Given the description of an element on the screen output the (x, y) to click on. 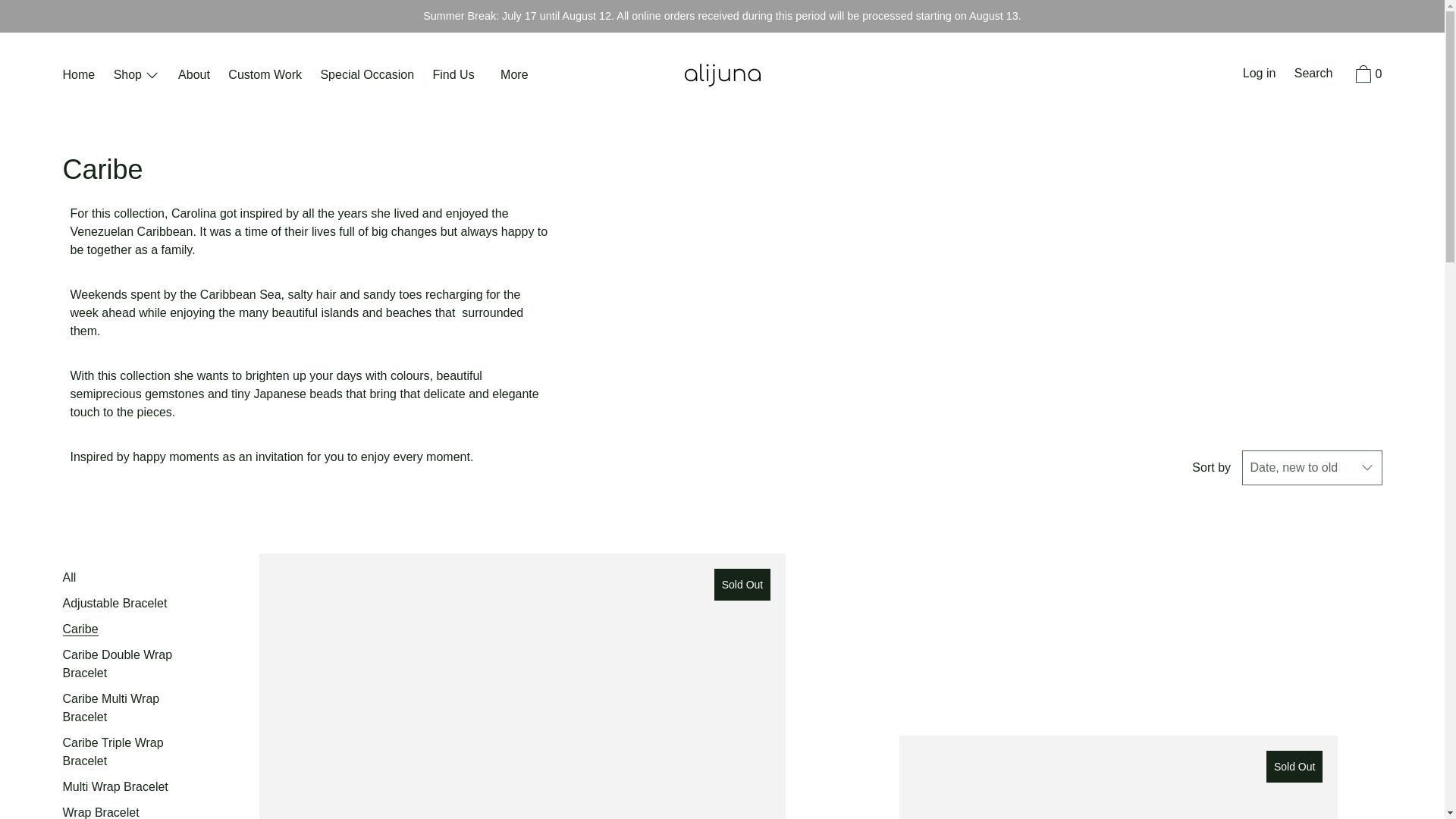
Find Us (453, 76)
Special Occasion (367, 76)
Shop (136, 76)
Search (1313, 74)
Log in (1259, 74)
More (513, 76)
Custom Work (264, 76)
About (193, 76)
Home (78, 76)
0 (1366, 76)
